Given the description of an element on the screen output the (x, y) to click on. 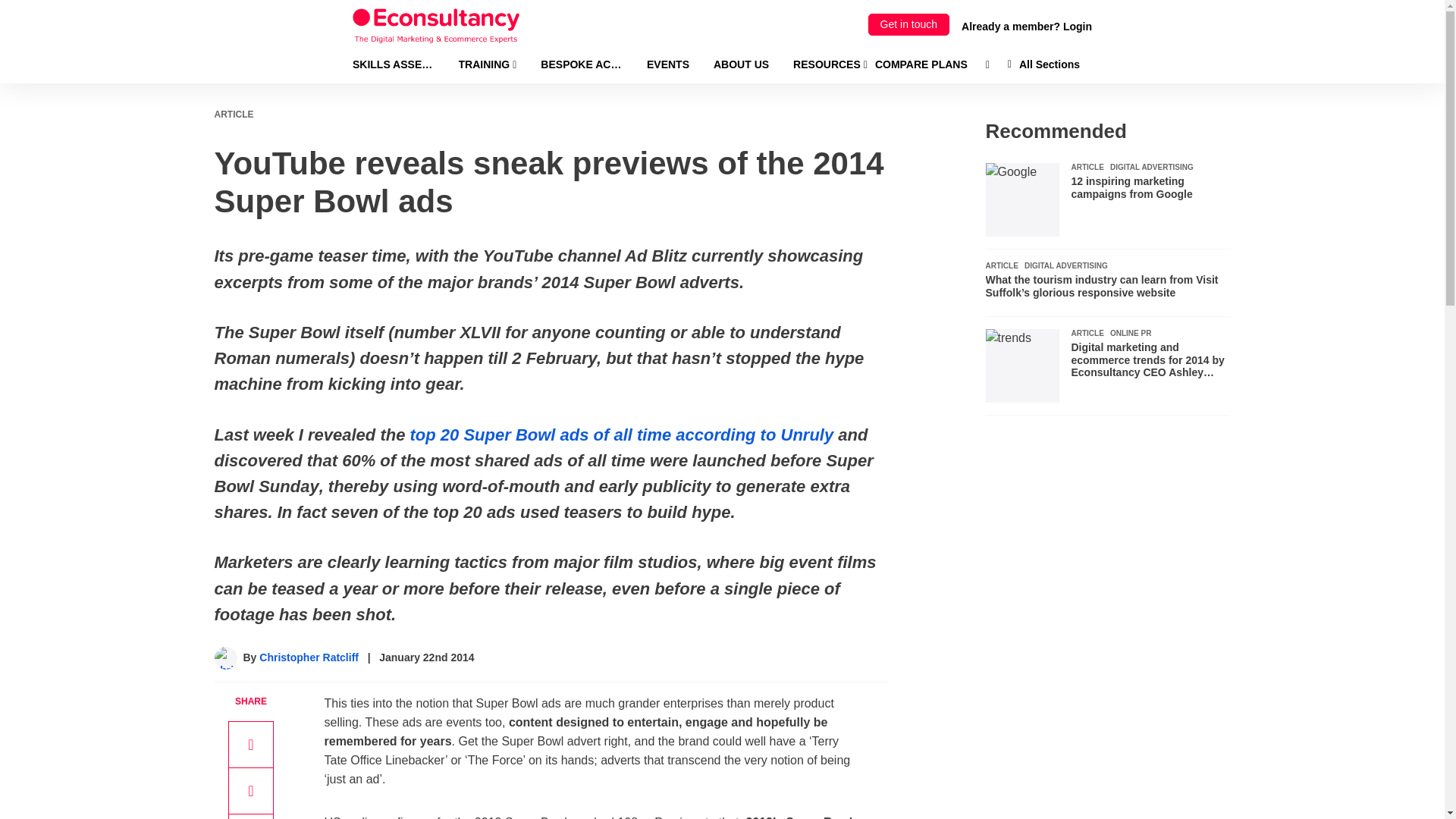
Posts by Christopher Ratcliff (308, 657)
Already a member? Login (1026, 26)
BESPOKE ACADEMIES (581, 64)
TRAINING (487, 64)
ABOUT US (740, 64)
All Sections (1043, 64)
SKILLS ASSESSMENT (392, 64)
COMPARE PLANS (921, 64)
EVENTS (667, 64)
RESOURCES (830, 64)
Get in touch (908, 24)
